Given the description of an element on the screen output the (x, y) to click on. 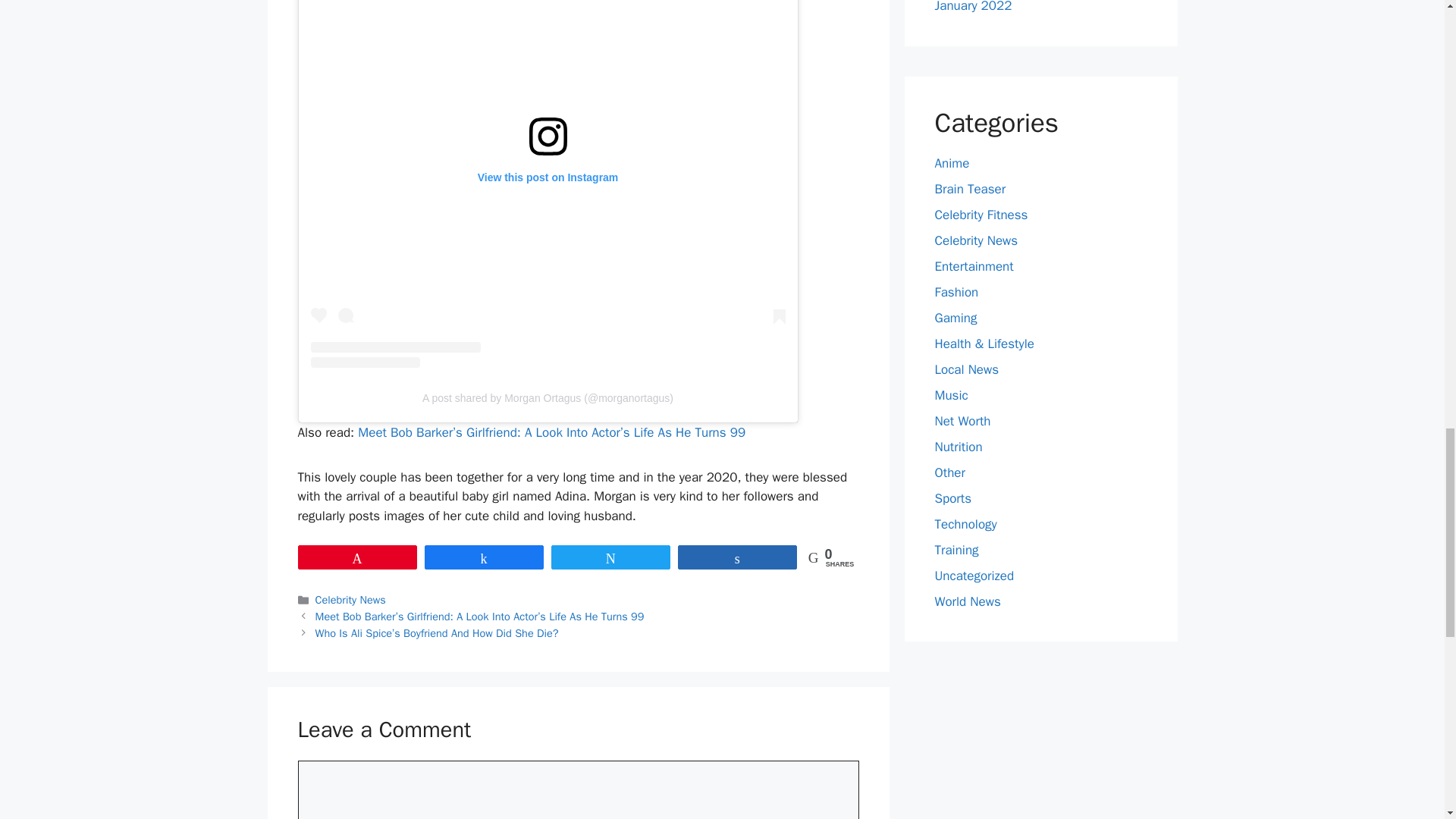
Celebrity News (350, 599)
